Given the description of an element on the screen output the (x, y) to click on. 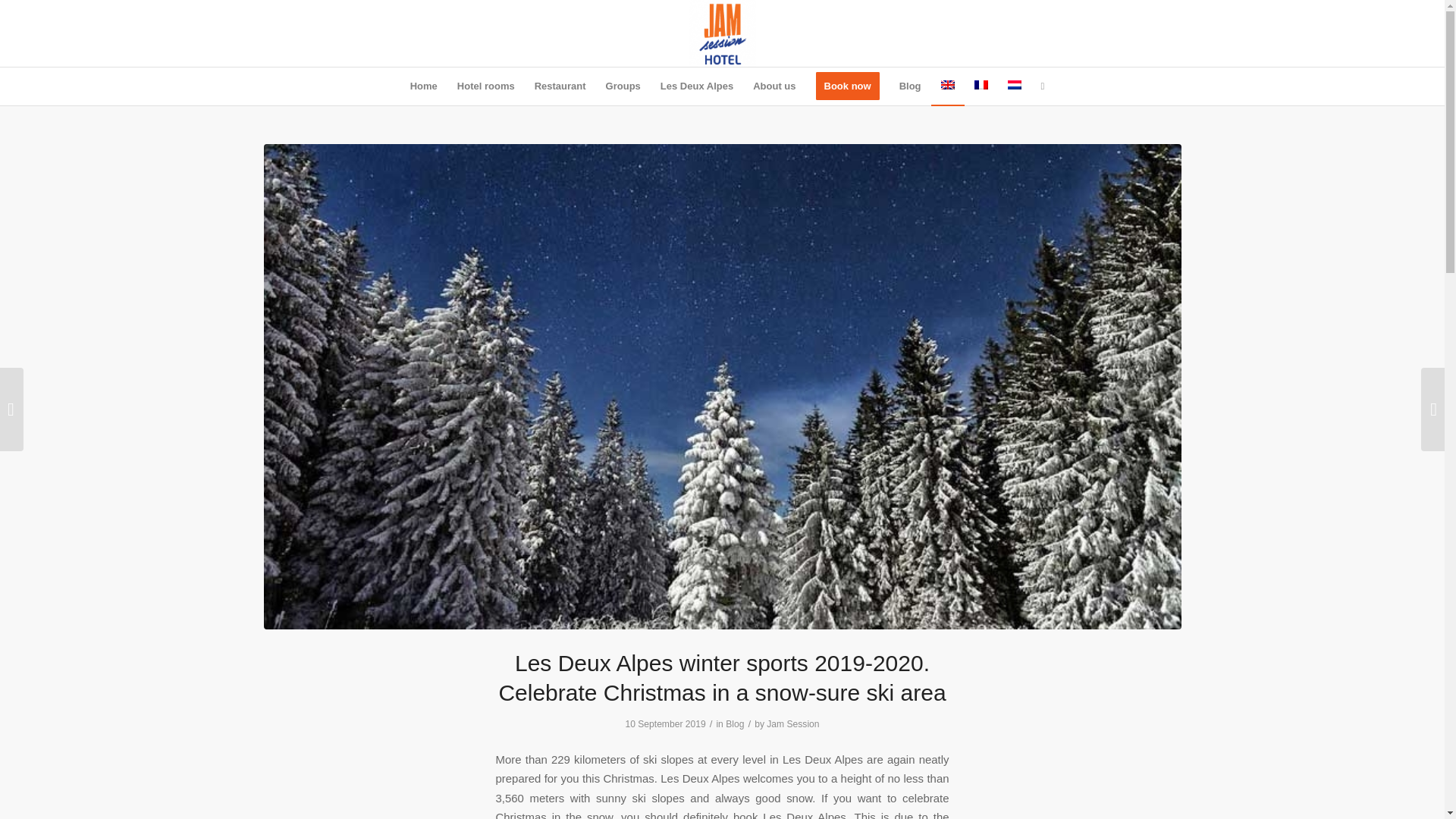
Blog (734, 724)
Les Deux Alpes (696, 86)
Groups (622, 86)
Restaurant (559, 86)
jam-session-hotel (721, 33)
Posts by Jam Session (792, 724)
Home (423, 86)
Jam Session (792, 724)
About us (773, 86)
Book now (847, 86)
Blog (910, 86)
Hotel rooms (485, 86)
